Given the description of an element on the screen output the (x, y) to click on. 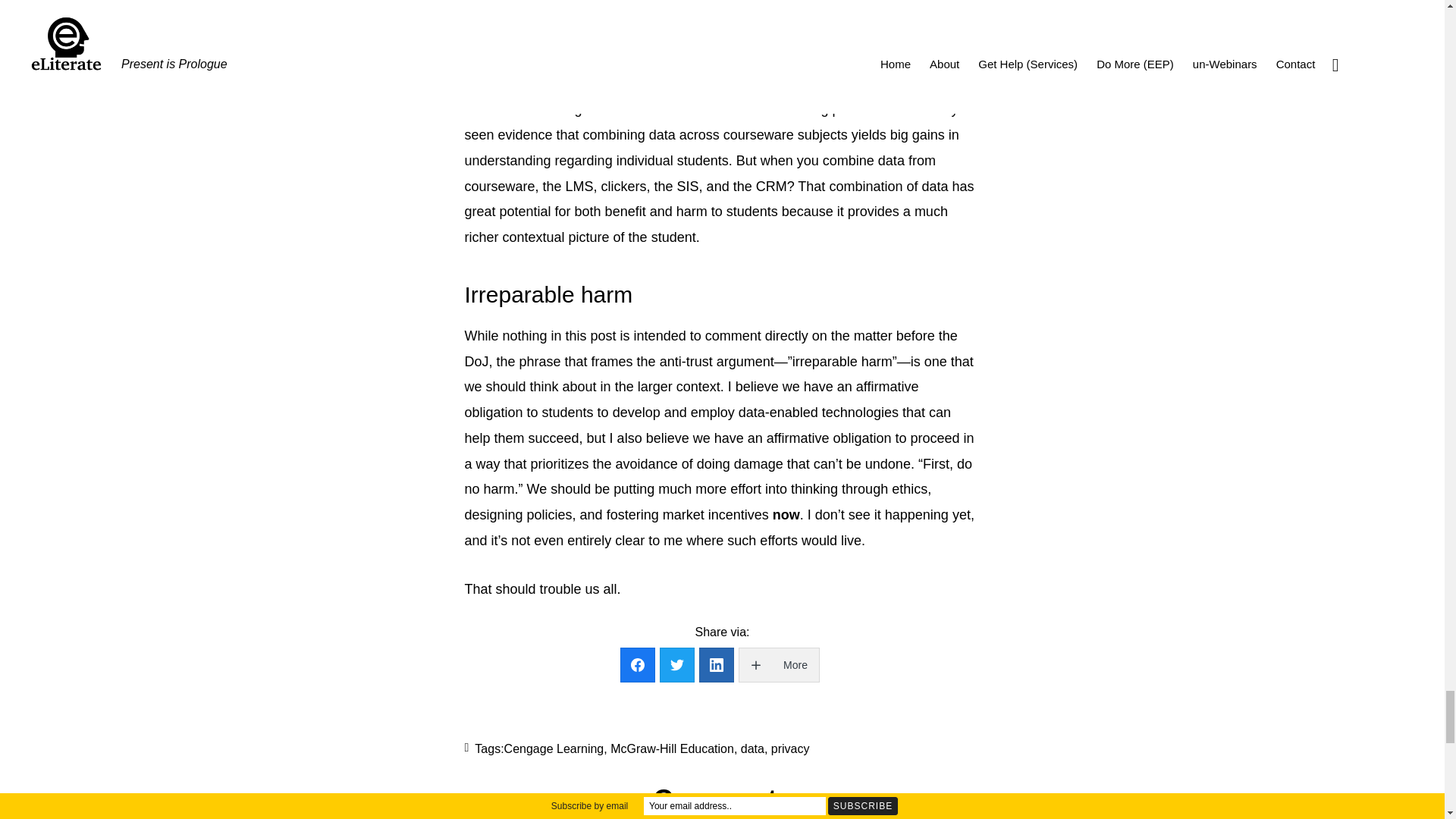
More (778, 664)
privacy (790, 748)
Cengage Learning (553, 748)
McGraw-Hill Education (671, 748)
data (752, 748)
